Given the description of an element on the screen output the (x, y) to click on. 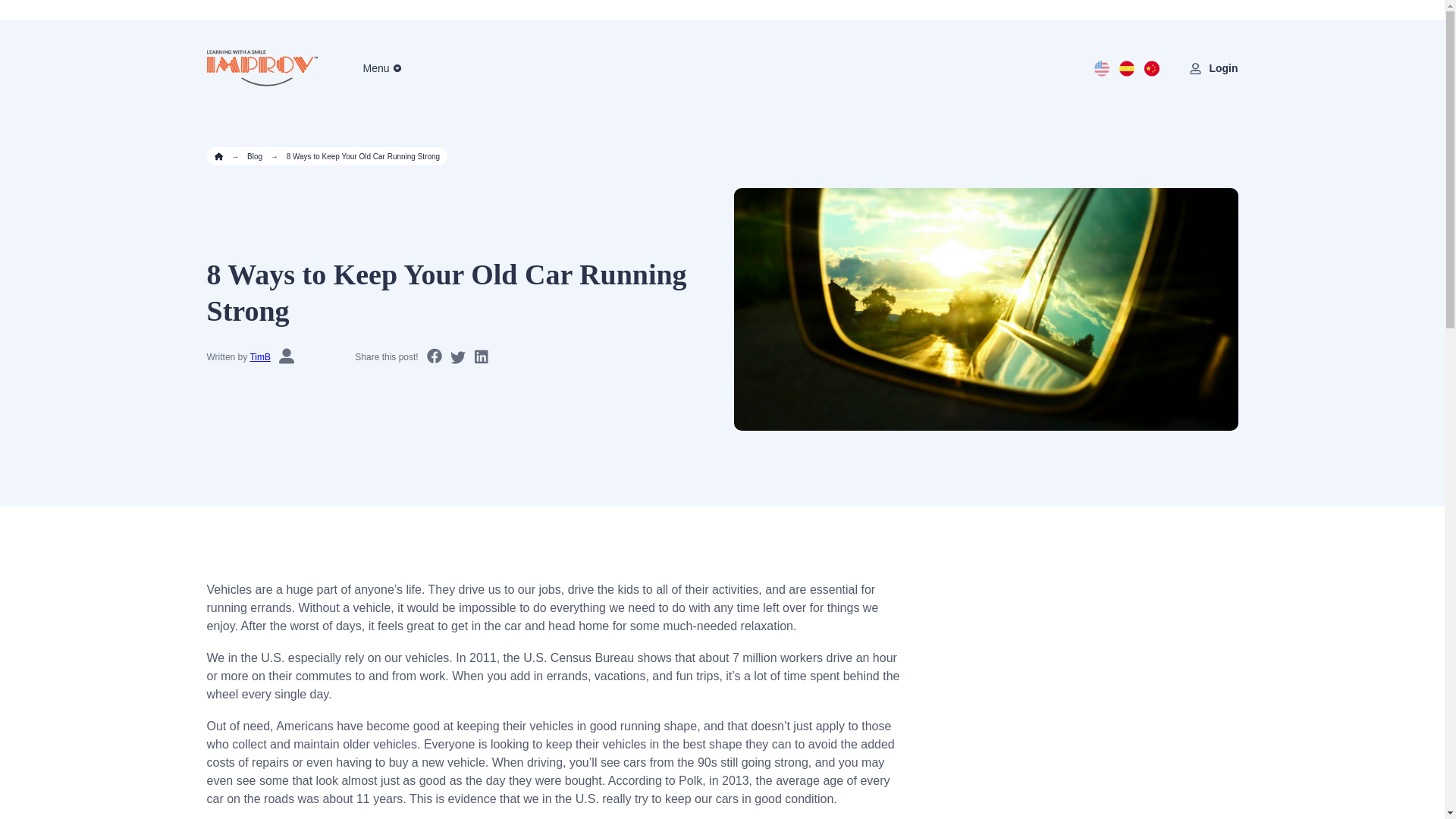
Login (1222, 68)
Menu (375, 68)
Posts by TimB (259, 357)
